Given the description of an element on the screen output the (x, y) to click on. 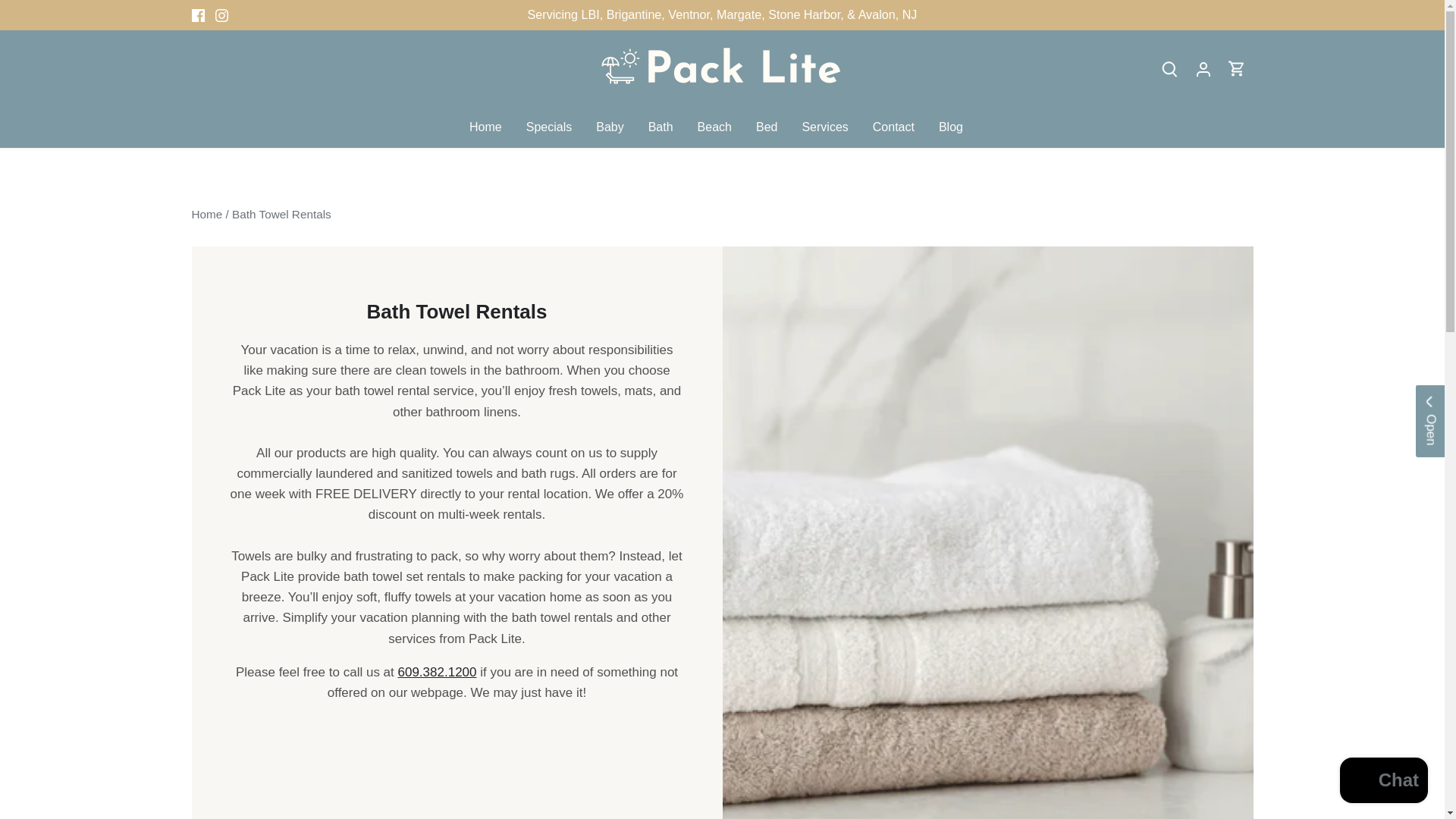
Specials (548, 127)
Home (206, 214)
609.382.1200 (436, 672)
Services (824, 127)
Instagram (221, 15)
Bath Towel Rentals (281, 214)
Blog (950, 127)
Shopify online store chat (1383, 781)
Baby (608, 127)
Home (490, 127)
Bed (766, 127)
Beach (714, 127)
Bath (660, 127)
Contact (893, 127)
Facebook (196, 15)
